Given the description of an element on the screen output the (x, y) to click on. 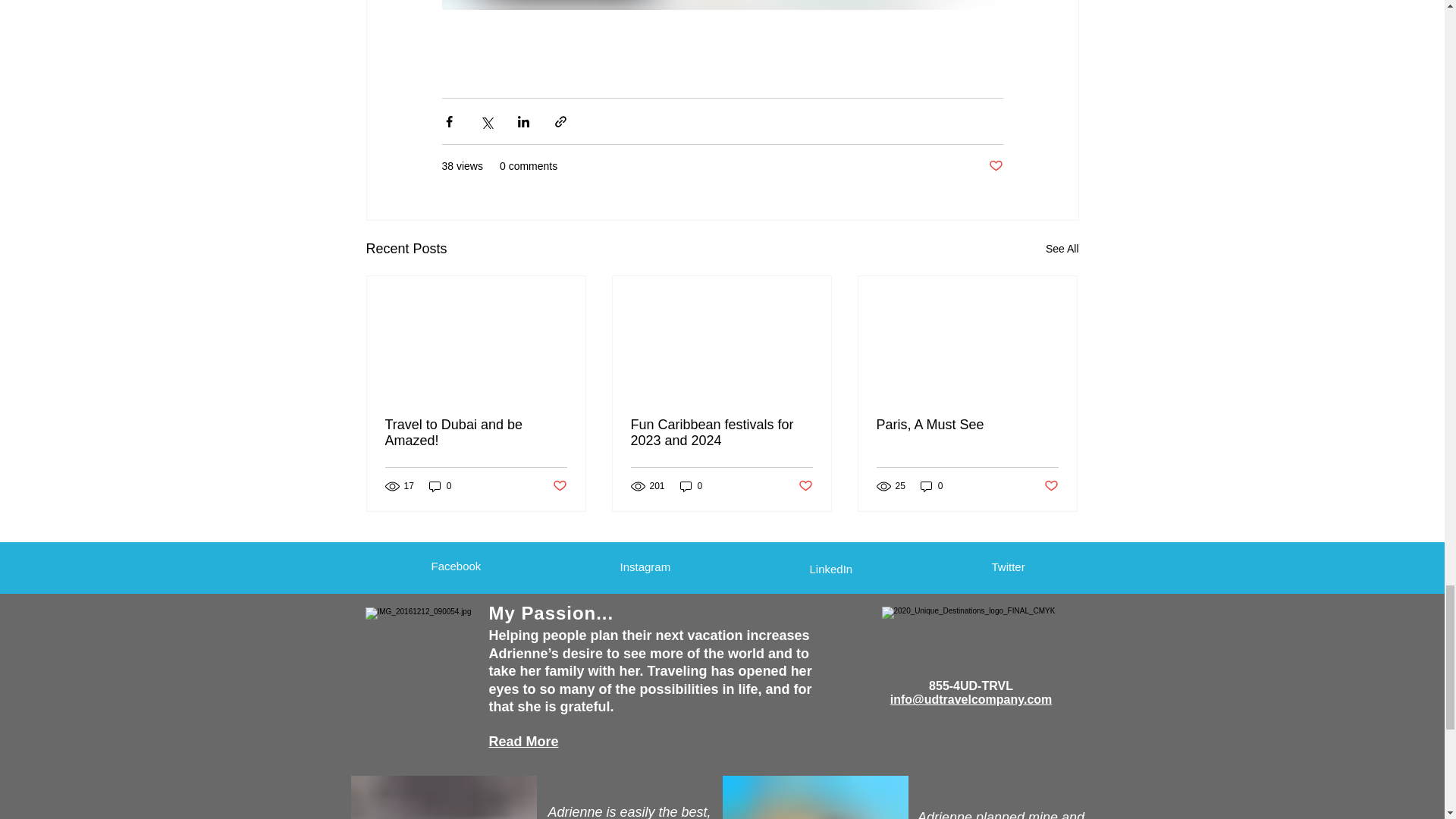
Post not marked as liked (995, 166)
Post not marked as liked (558, 486)
Fun Caribbean festivals for 2023 and 2024 (721, 432)
Post not marked as liked (804, 486)
0 (691, 486)
0 (440, 486)
See All (1061, 249)
Travel to Dubai and be Amazed! (476, 432)
